Given the description of an element on the screen output the (x, y) to click on. 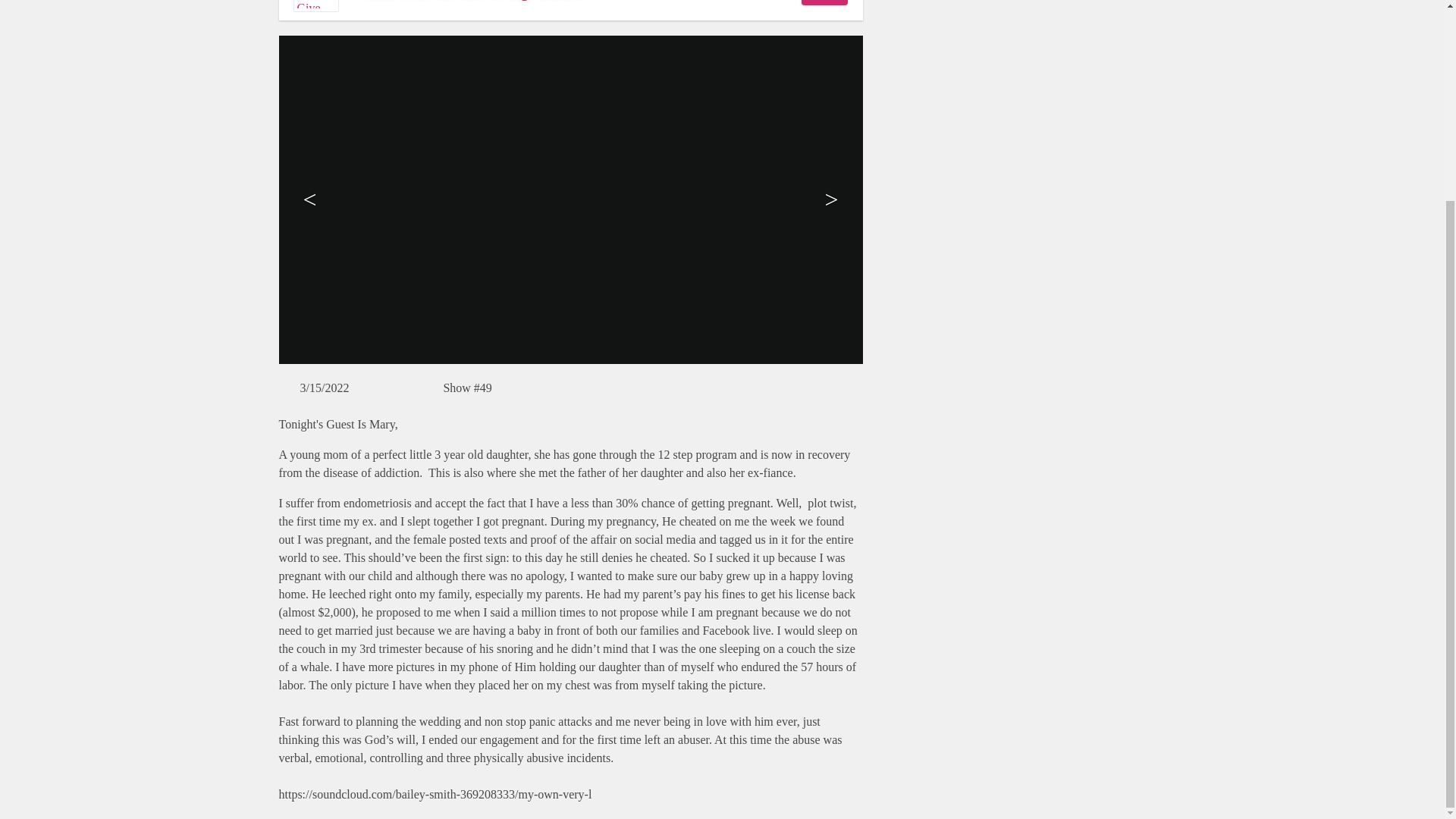
Follow The Never Give Up Show (824, 2)
